Given the description of an element on the screen output the (x, y) to click on. 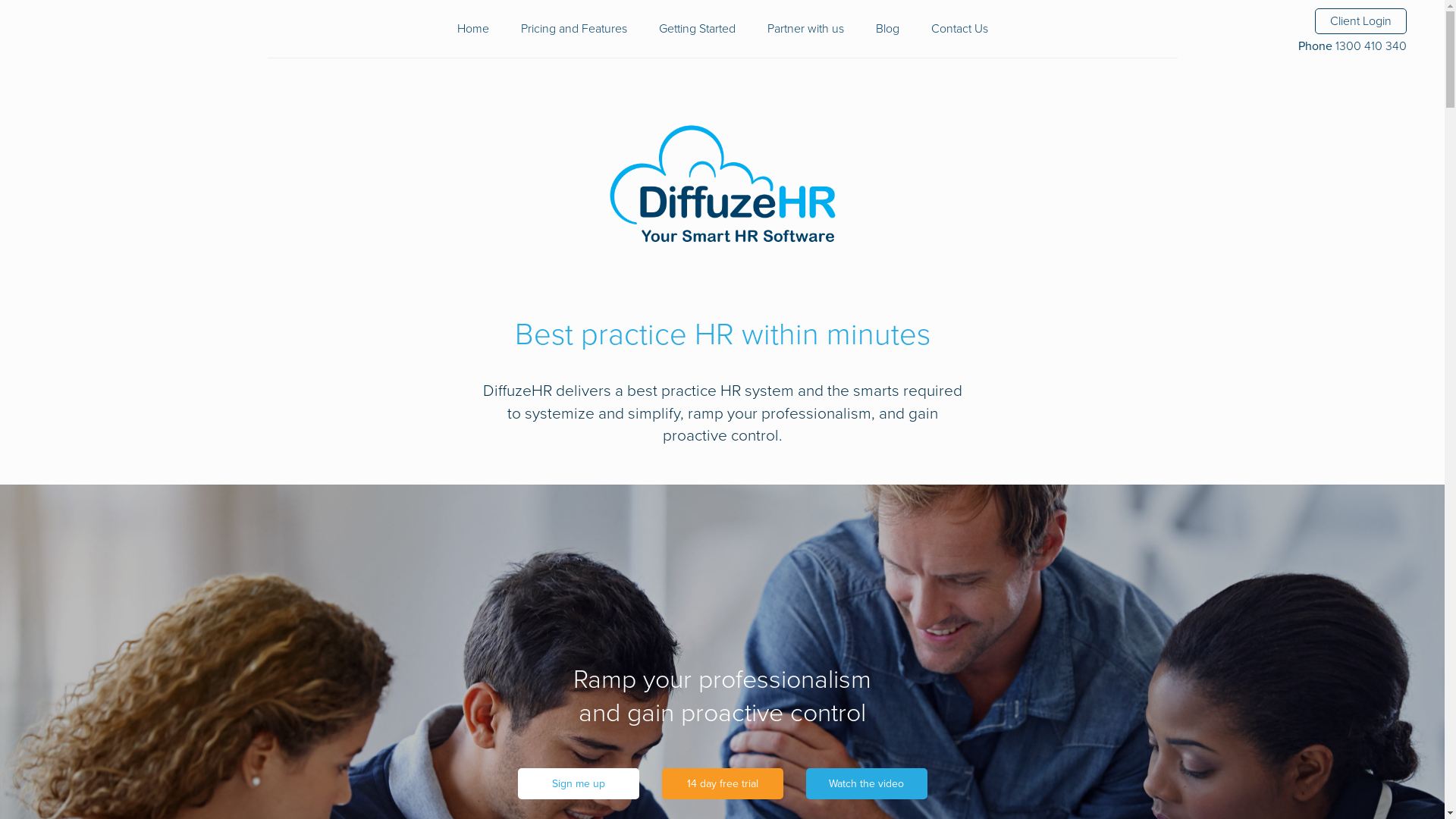
Continue Element type: text (722, 604)
Contact Us Element type: text (959, 28)
DiffuzeHR Australia Element type: hover (721, 185)
Blog Element type: text (886, 28)
Sign me up Element type: text (577, 783)
Partner with us Element type: text (805, 28)
14 day free trial Element type: text (721, 783)
Pricing and Features Element type: text (573, 28)
Watch the video Element type: text (865, 783)
Client Login Element type: text (1360, 21)
Getting Started Element type: text (696, 28)
Phone 1300 410 340 Element type: text (1352, 46)
Home Element type: text (472, 28)
